Given the description of an element on the screen output the (x, y) to click on. 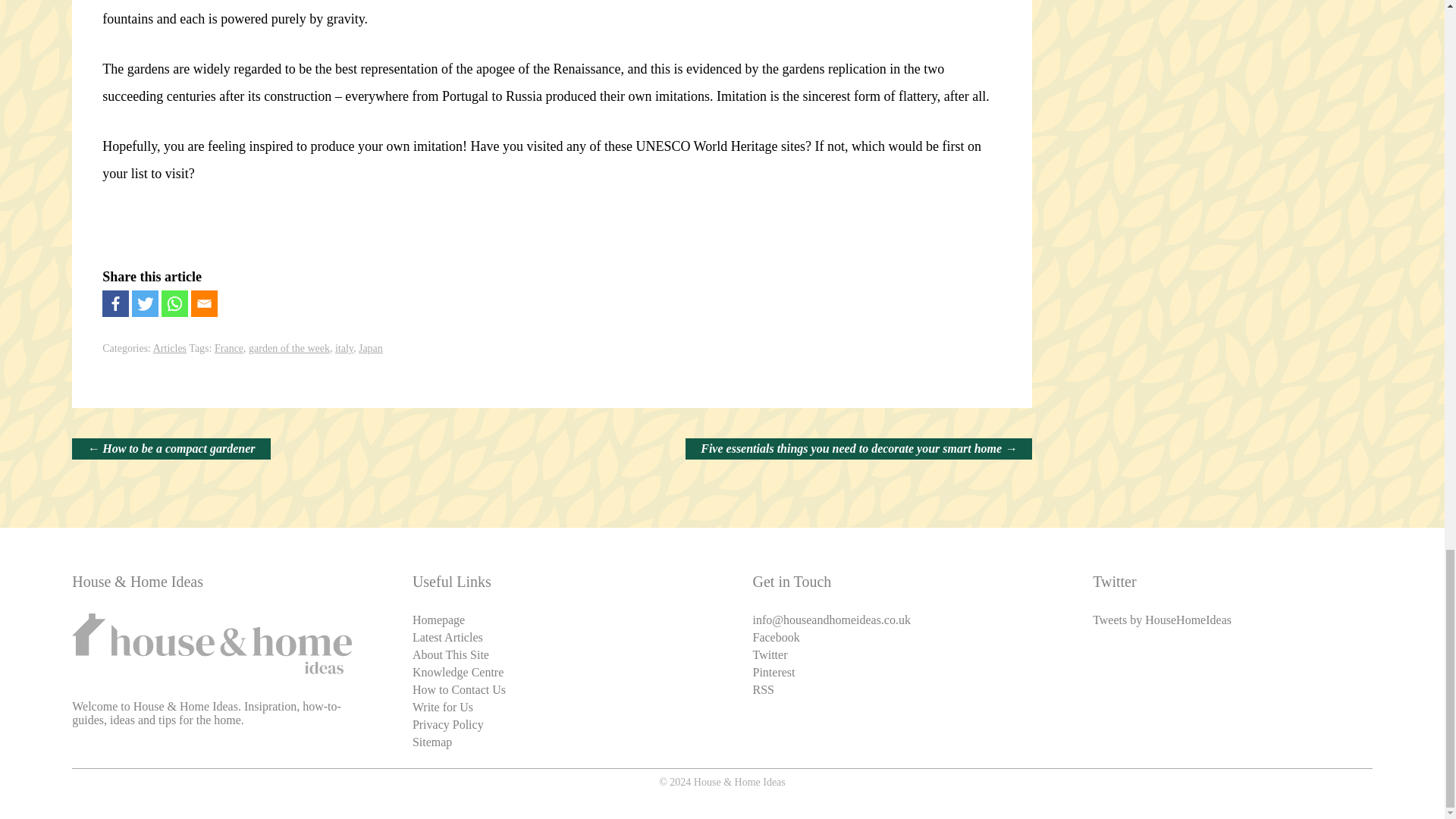
France (228, 348)
italy (343, 348)
garden of the week (289, 348)
Articles (169, 348)
Japan (370, 348)
